Given the description of an element on the screen output the (x, y) to click on. 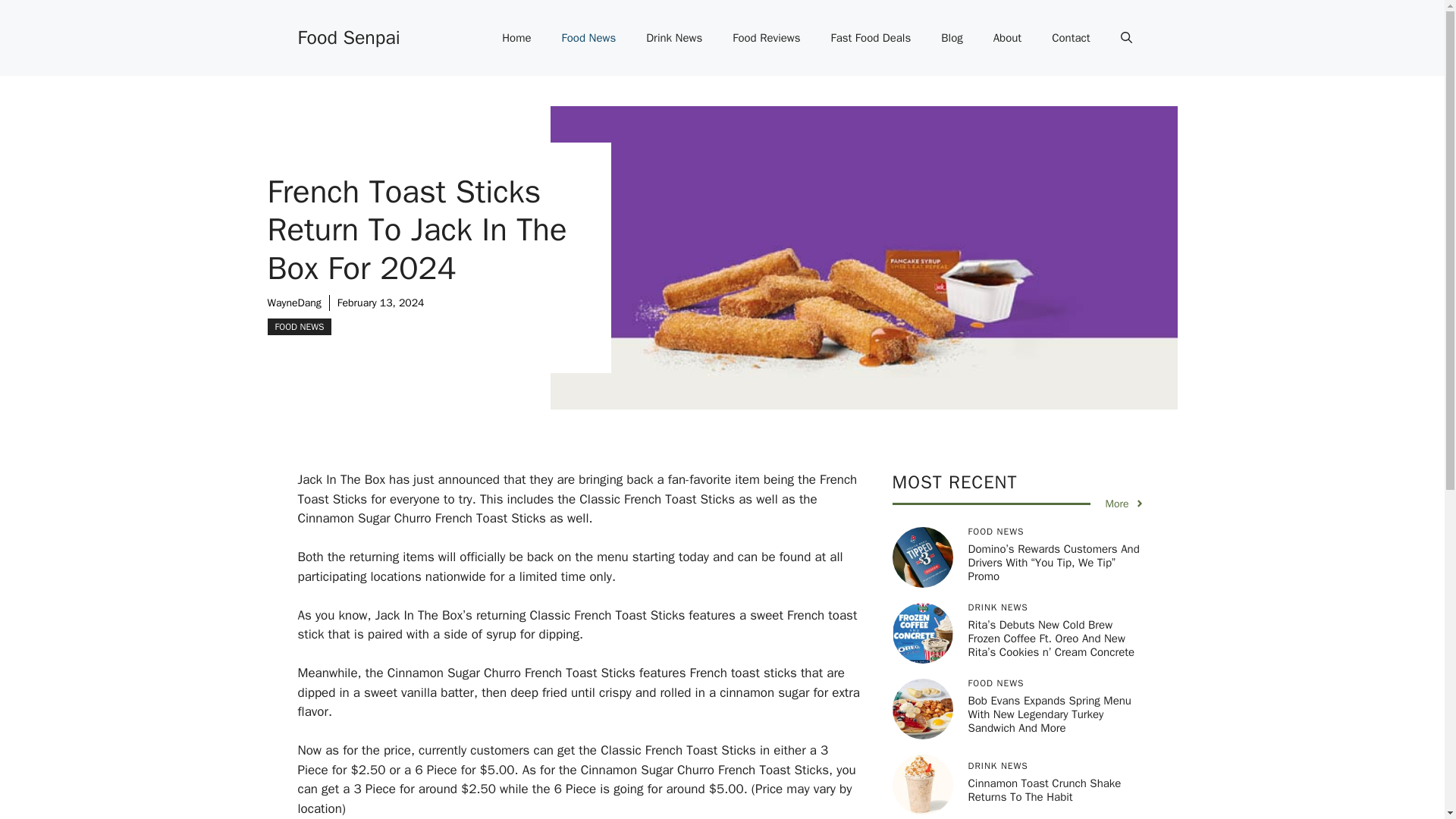
Drink News (673, 37)
Food Senpai (347, 37)
Cinnamon Toast Crunch Shake Returns To The Habit (1044, 789)
Blog (951, 37)
WayneDang (293, 302)
Food News (589, 37)
Contact (1070, 37)
Home (516, 37)
Food Reviews (766, 37)
